Given the description of an element on the screen output the (x, y) to click on. 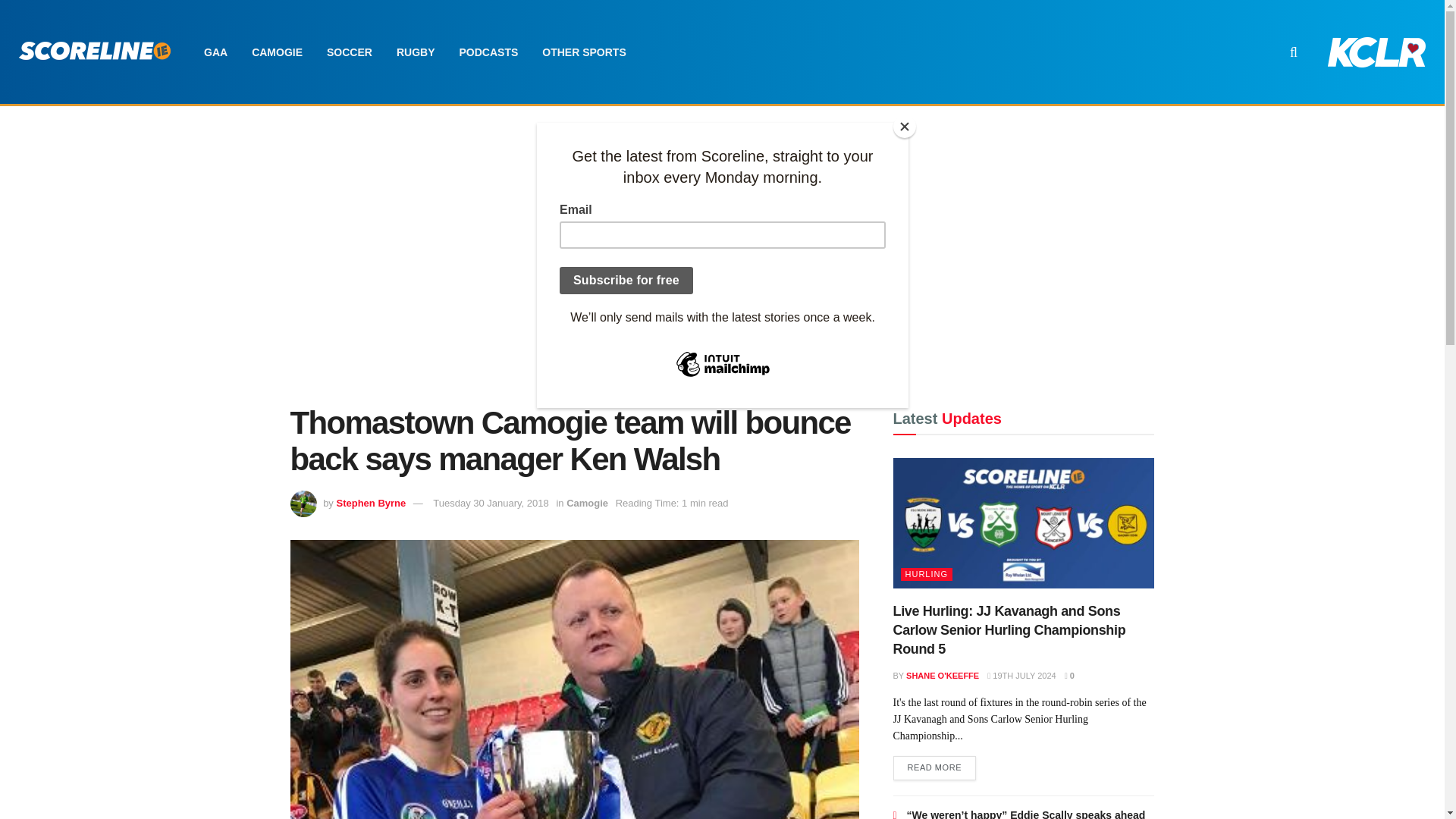
GAA (216, 52)
OTHER SPORTS (583, 52)
Stephen Byrne (371, 502)
SOCCER (349, 52)
Camogie (587, 502)
Tuesday 30 January, 2018 (490, 502)
PODCASTS (487, 52)
19TH JULY 2024 (1021, 675)
HURLING (927, 574)
RUGBY (415, 52)
CAMOGIE (277, 52)
READ MORE (934, 767)
SHANE O'KEEFFE (941, 675)
